Given the description of an element on the screen output the (x, y) to click on. 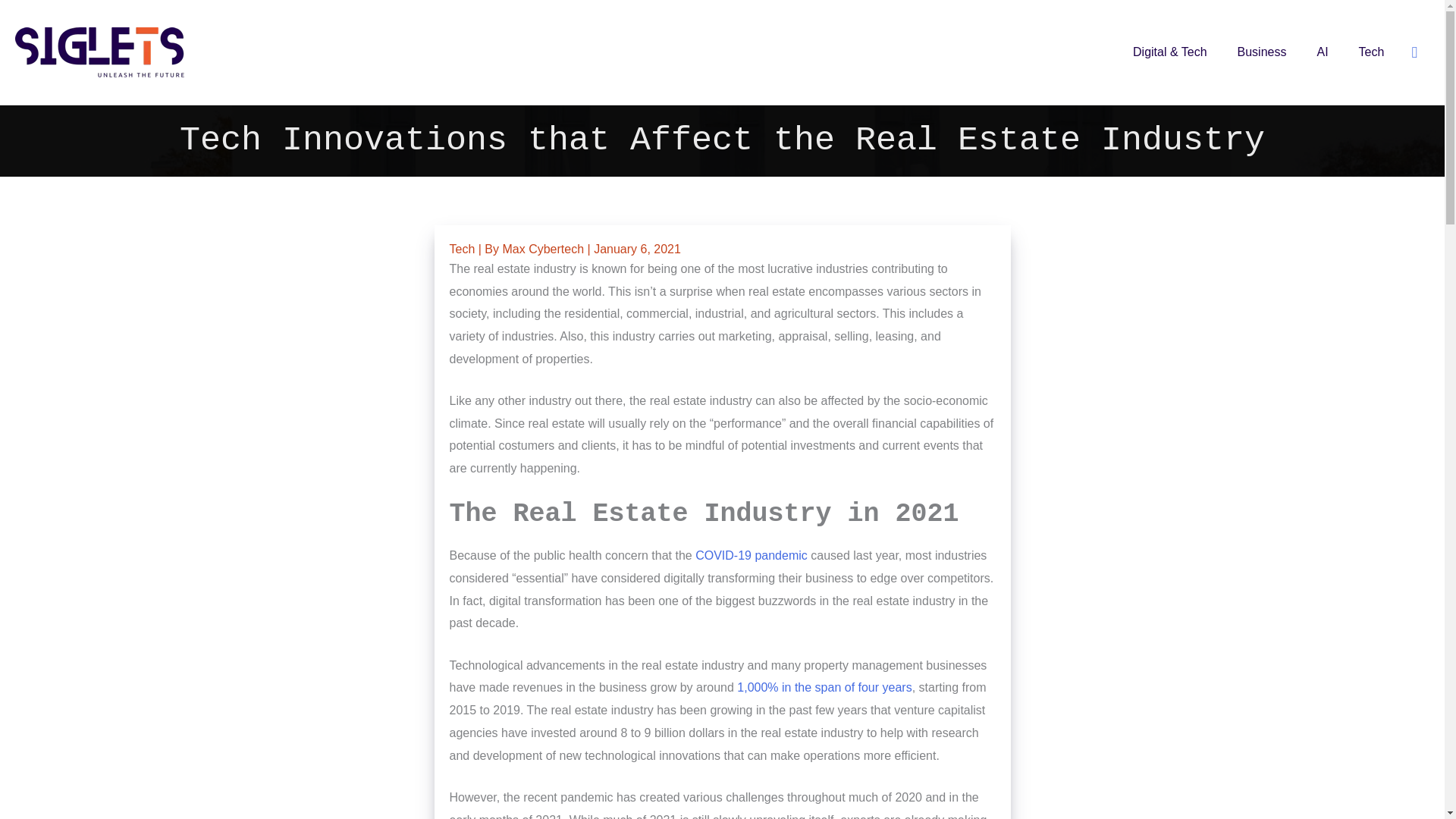
Max Cybertech (544, 248)
View all posts by Max Cybertech (544, 248)
Business (1262, 51)
AI (1321, 51)
COVID-19 pandemic (751, 554)
Tech (461, 248)
Tech (1371, 51)
